Given the description of an element on the screen output the (x, y) to click on. 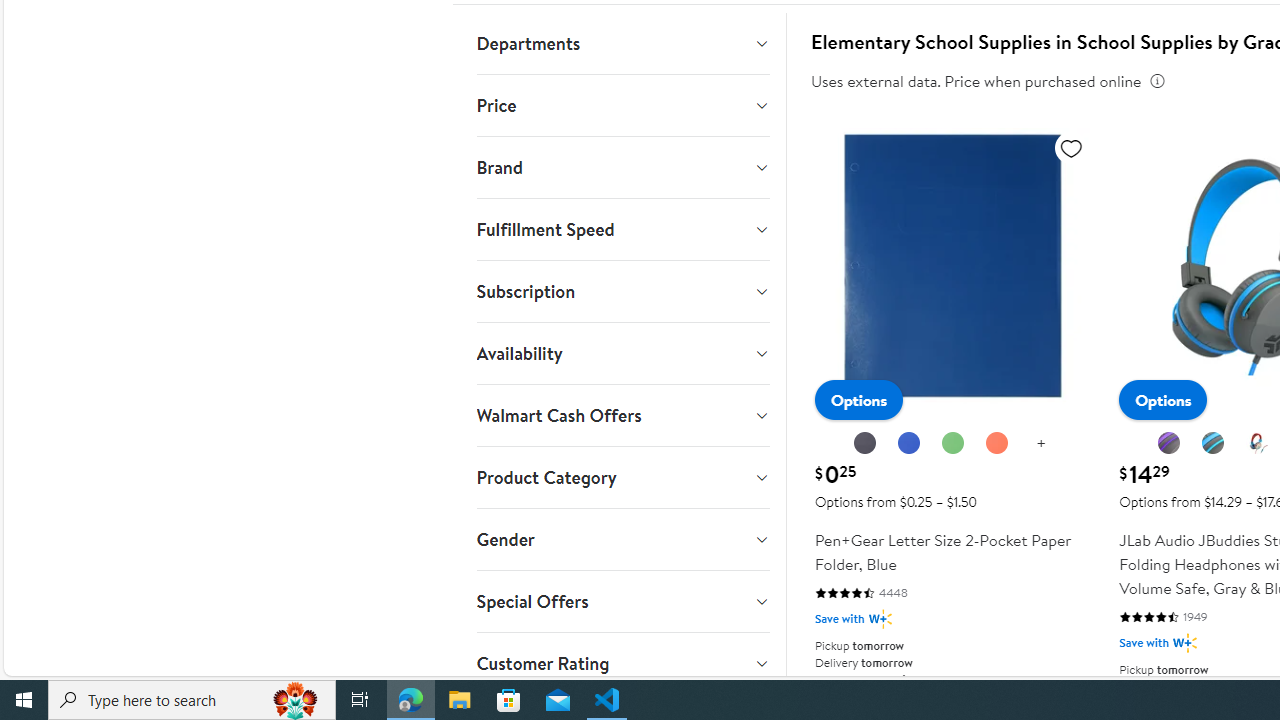
legal information (1157, 81)
Pen+Gear Letter Size 2-Pocket Paper Folder, Blue (952, 266)
Gender (622, 539)
Subscription (622, 291)
Fulfillment Speed (622, 229)
Departments (622, 43)
Blue (909, 444)
Subscription (622, 291)
Multicolor (1257, 443)
Graphite Purple (1169, 443)
Gender (622, 539)
Special Offers (622, 601)
Special Offers (622, 601)
